Given the description of an element on the screen output the (x, y) to click on. 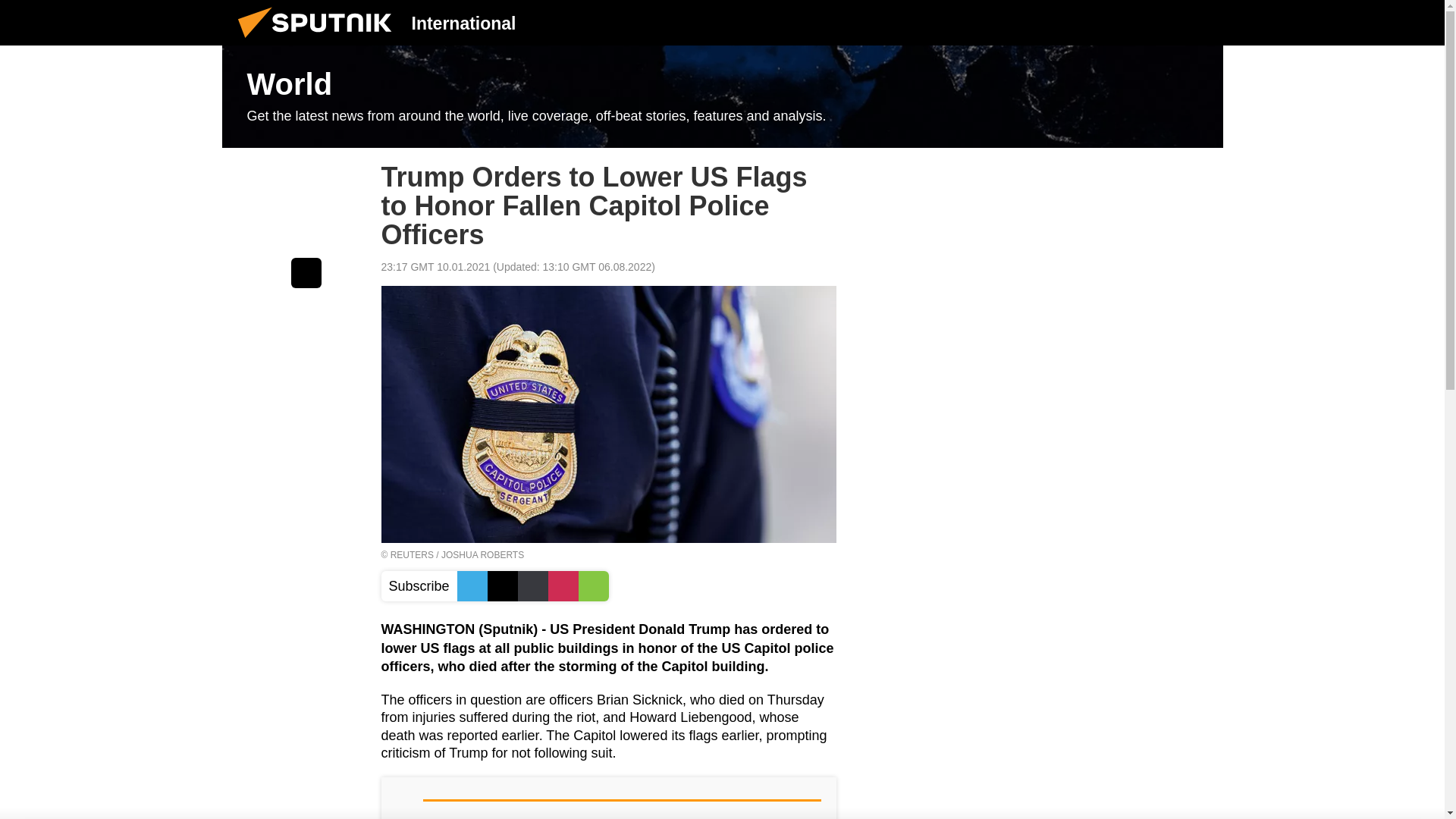
Authorization (1123, 22)
World (722, 96)
Chats (1199, 22)
Sputnik International (319, 41)
